Given the description of an element on the screen output the (x, y) to click on. 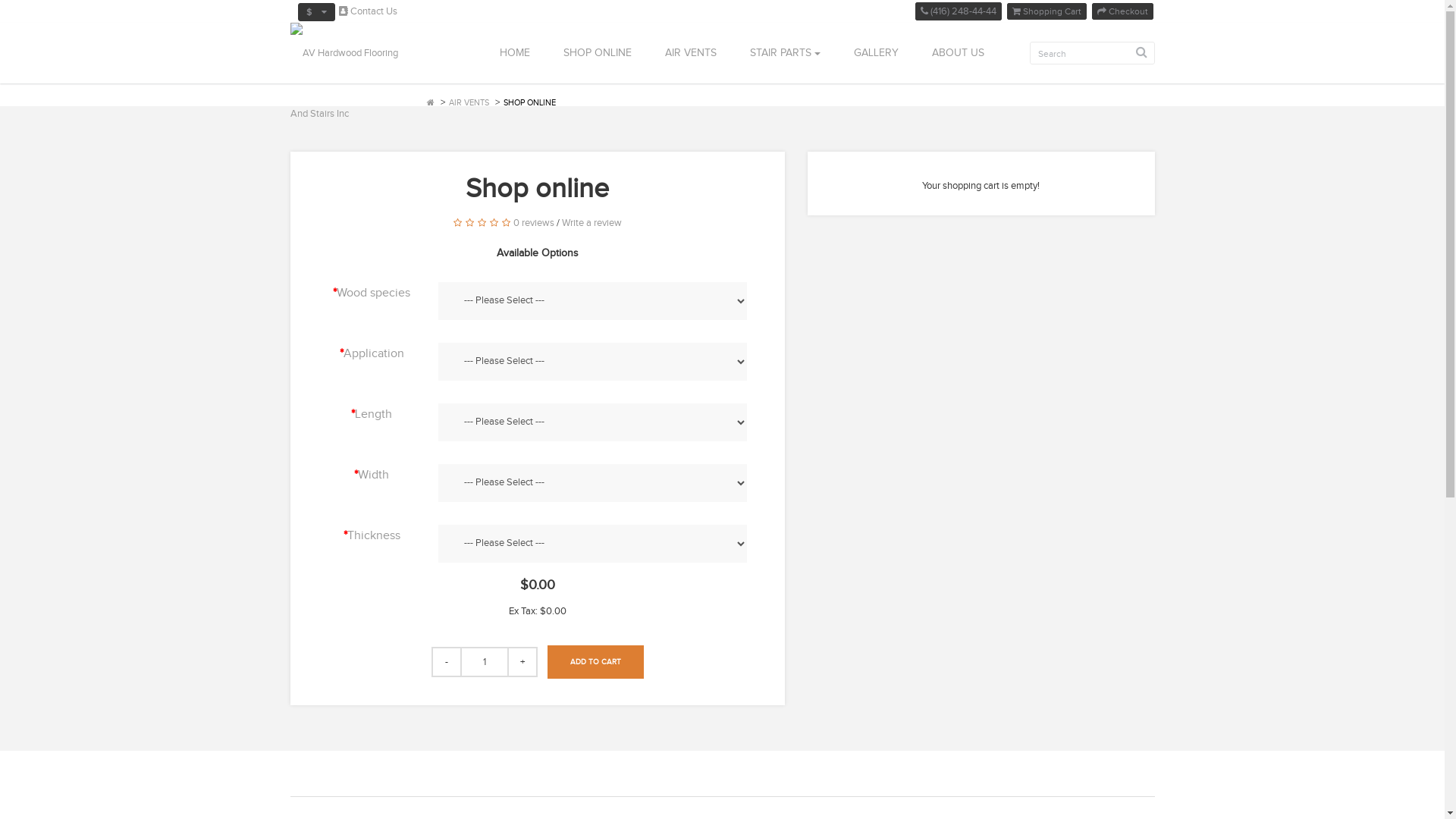
$   Element type: text (315, 12)
Shopping Cart Element type: text (1046, 11)
ADD TO CART Element type: text (595, 661)
AV Hardwood Flooring And Stairs Inc Element type: hover (351, 83)
Write a review Element type: text (591, 222)
(416) 248-44-44 Element type: text (957, 11)
HOME Element type: text (514, 52)
AIR VENTS Element type: text (468, 102)
SHOP ONLINE Element type: text (596, 52)
SHOP ONLINE Element type: text (529, 102)
Checkout Element type: text (1122, 11)
Contact Us Element type: text (367, 11)
GALLERY Element type: text (876, 52)
AIR VENTS Element type: text (689, 52)
STAIR PARTS Element type: text (784, 52)
0 reviews Element type: text (533, 222)
ABOUT US Element type: text (954, 52)
